Given the description of an element on the screen output the (x, y) to click on. 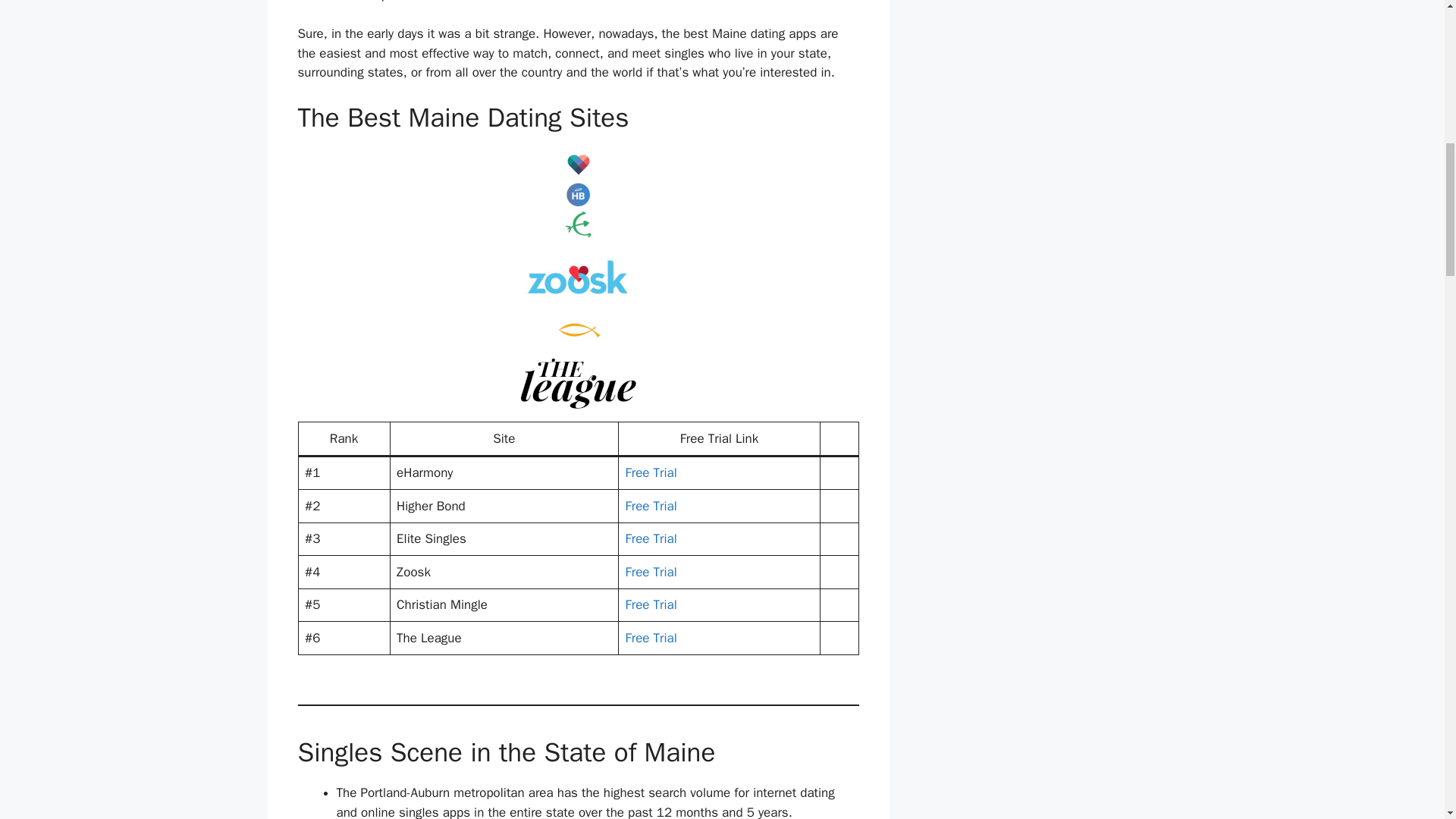
Free Trial (651, 604)
Free Trial (651, 571)
Free Trial (651, 538)
Free Trial (651, 505)
Free Trial (651, 472)
Free Trial (651, 637)
